Given the description of an element on the screen output the (x, y) to click on. 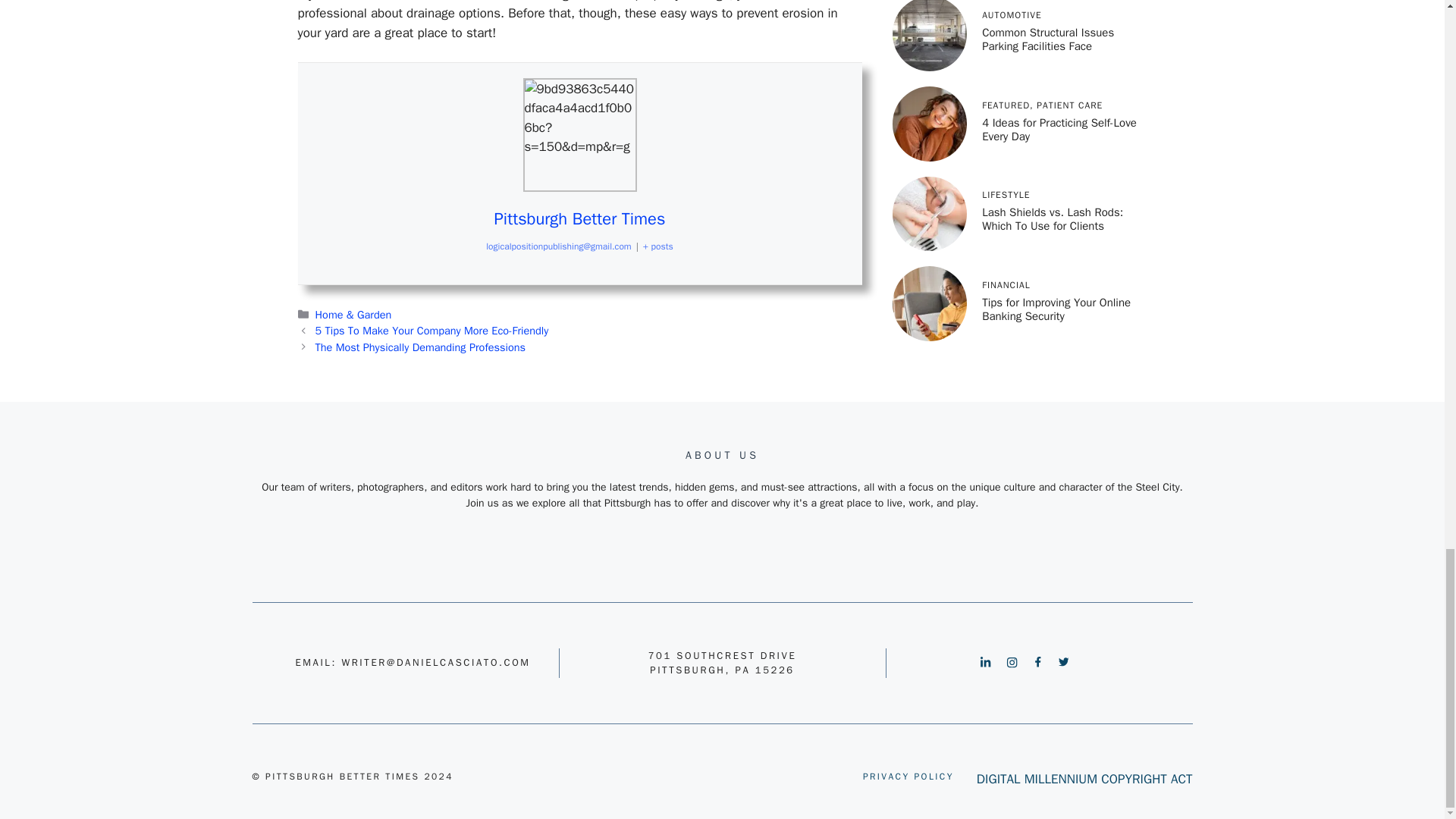
5 Tips To Make Your Company More Eco-Friendly (431, 330)
The Most Physically Demanding Professions (420, 346)
4 Easy Ways to Prevent Erosion in Your Yard 1 (579, 134)
Pittsburgh Better Times (580, 219)
